Given the description of an element on the screen output the (x, y) to click on. 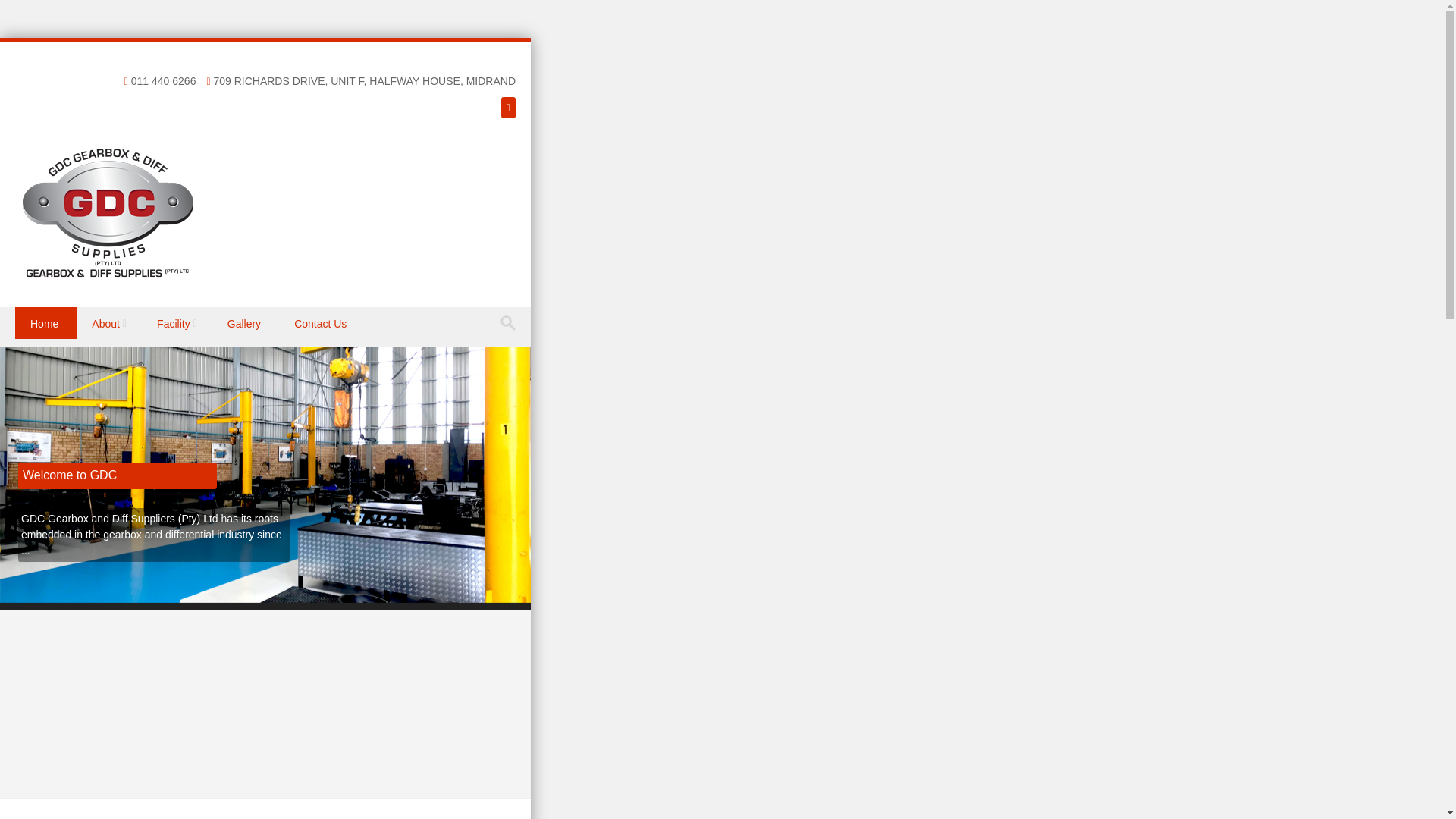
Gallery (245, 323)
Search (26, 14)
Facility (176, 323)
Home (45, 323)
Menu (26, 340)
Skip to content (34, 316)
Navigation Toggle (26, 340)
GDC (108, 273)
Welcome to GDC (69, 474)
Contact Us (322, 323)
Skip to content (34, 316)
Search for: (510, 323)
About (109, 323)
